Given the description of an element on the screen output the (x, y) to click on. 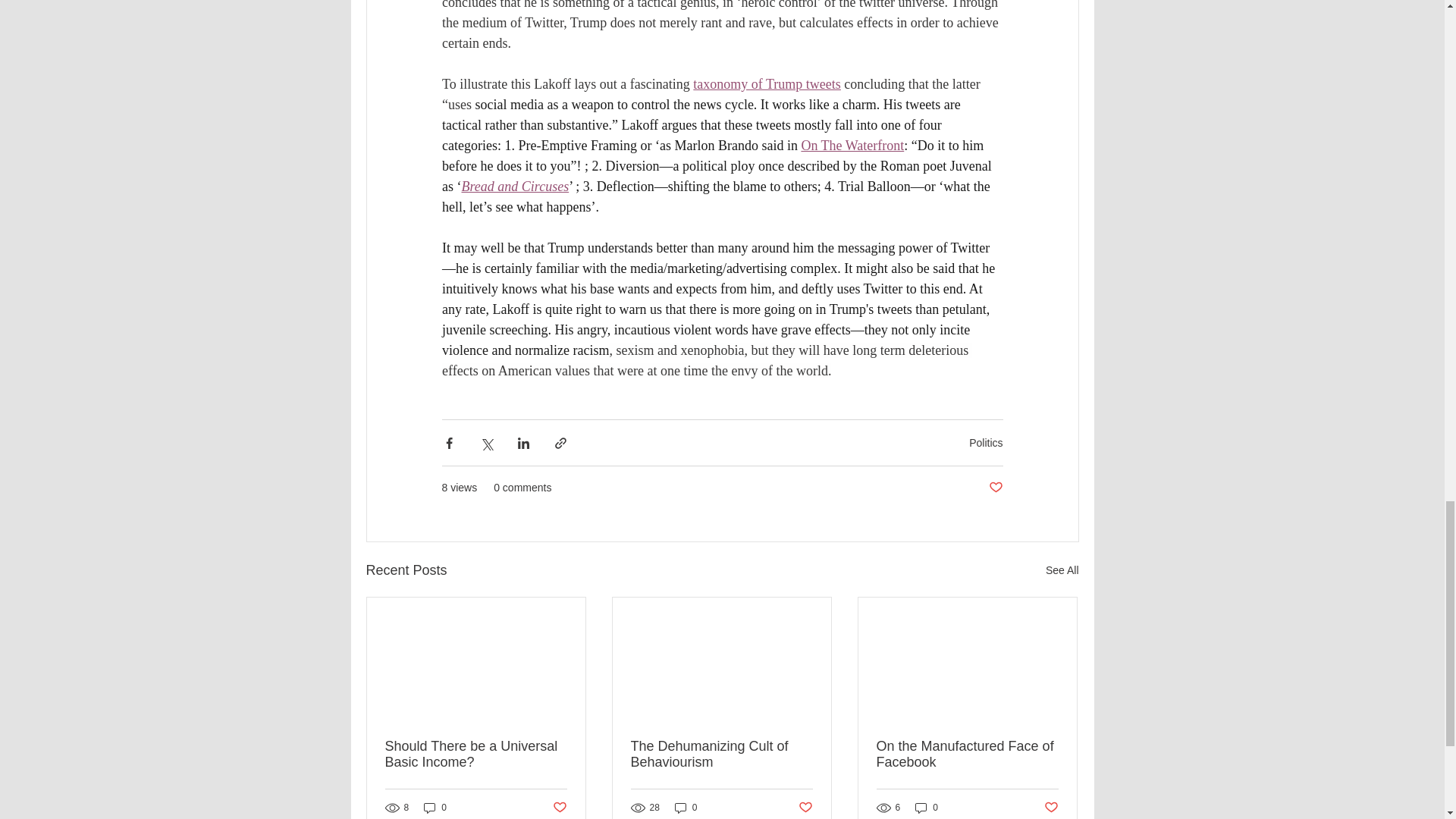
0 (685, 807)
Post not marked as liked (1050, 806)
On the Manufactured Face of Facebook (967, 754)
Post not marked as liked (995, 487)
The Dehumanizing Cult of Behaviourism (721, 754)
Should There be a Universal Basic Income? (476, 754)
See All (1061, 570)
0 (926, 807)
Post not marked as liked (804, 806)
Bread and Circuses (515, 186)
Politics (986, 442)
Post not marked as liked (558, 806)
taxonomy of Trump tweets (767, 83)
On The Waterfront (852, 145)
0 (435, 807)
